Given the description of an element on the screen output the (x, y) to click on. 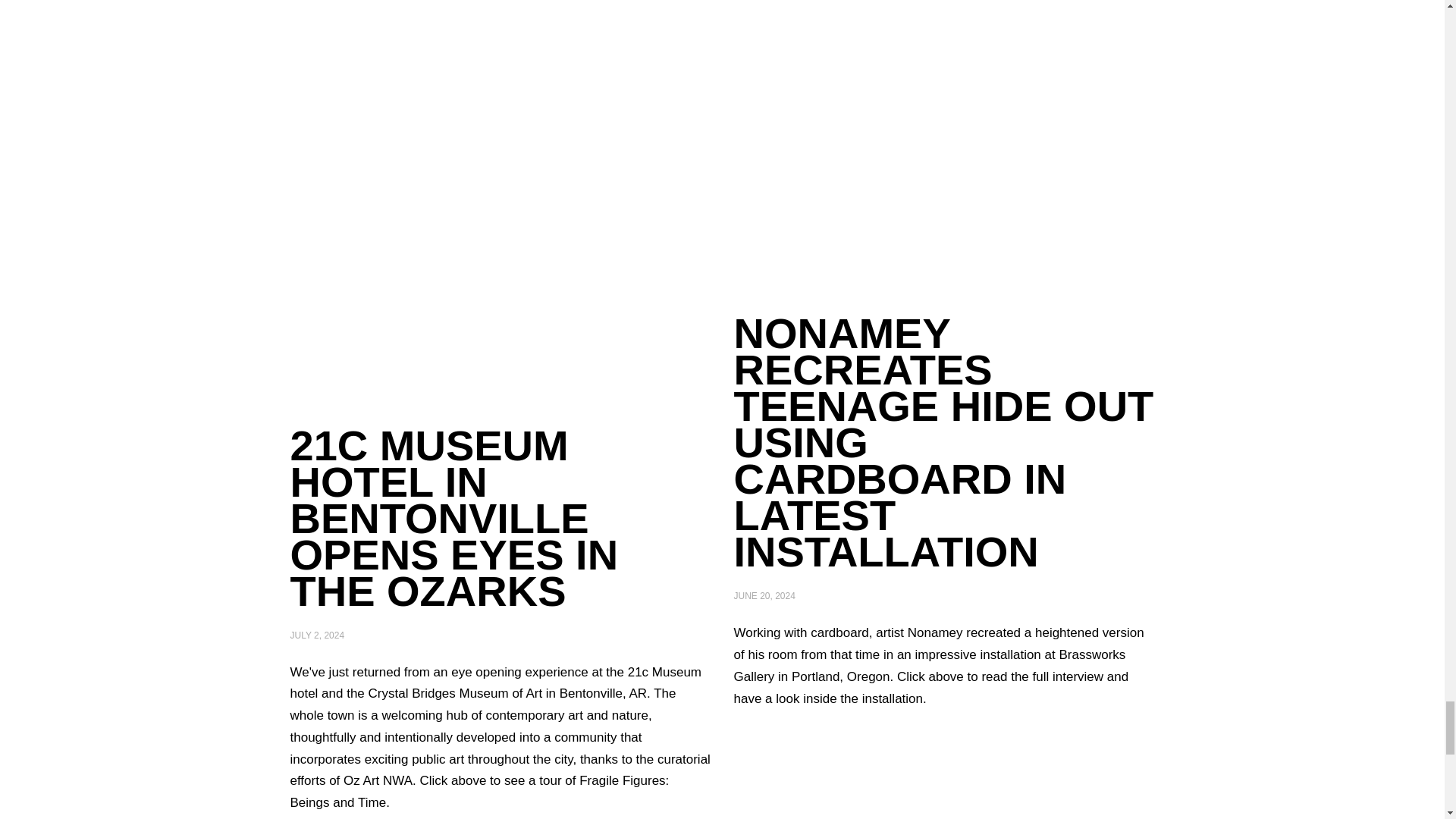
21C MUSEUM HOTEL IN BENTONVILLE OPENS EYES IN THE OZARKS (453, 518)
